Given the description of an element on the screen output the (x, y) to click on. 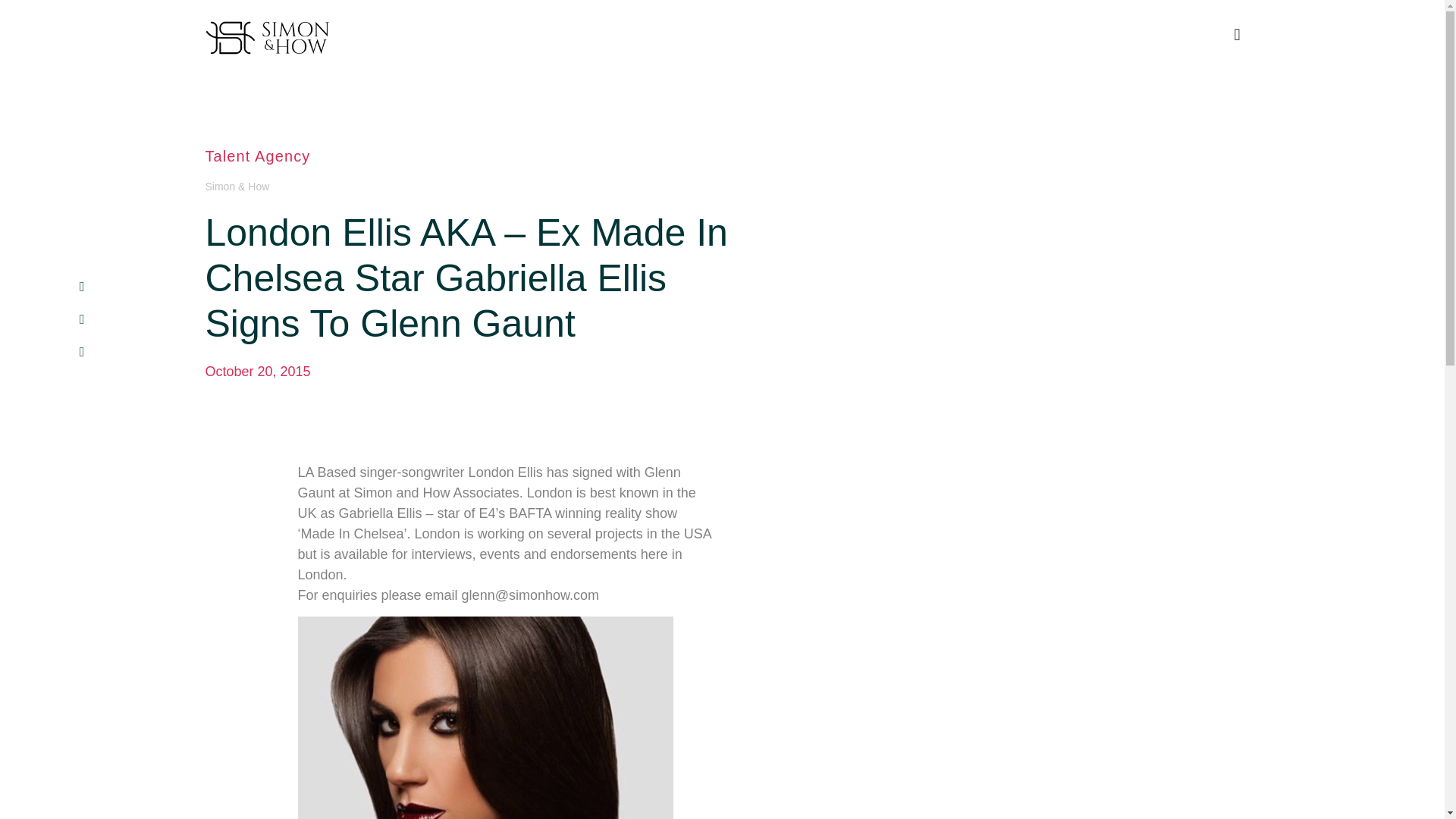
Talent Agency (257, 156)
